Given the description of an element on the screen output the (x, y) to click on. 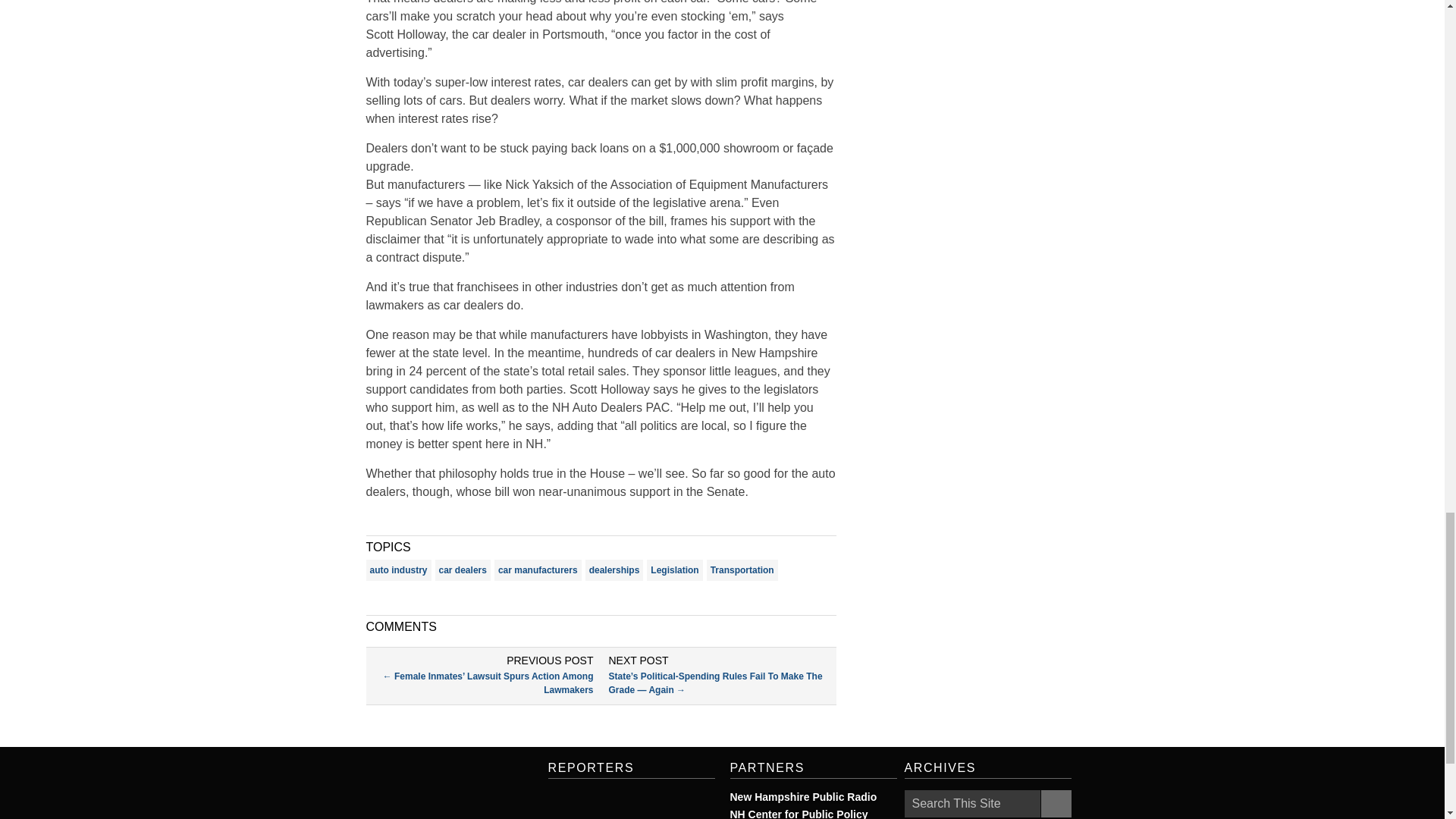
StateImpact (430, 788)
Transportation (741, 569)
Legislation (673, 569)
auto industry (397, 569)
dealerships (614, 569)
car dealers (462, 569)
car manufacturers (537, 569)
